Given the description of an element on the screen output the (x, y) to click on. 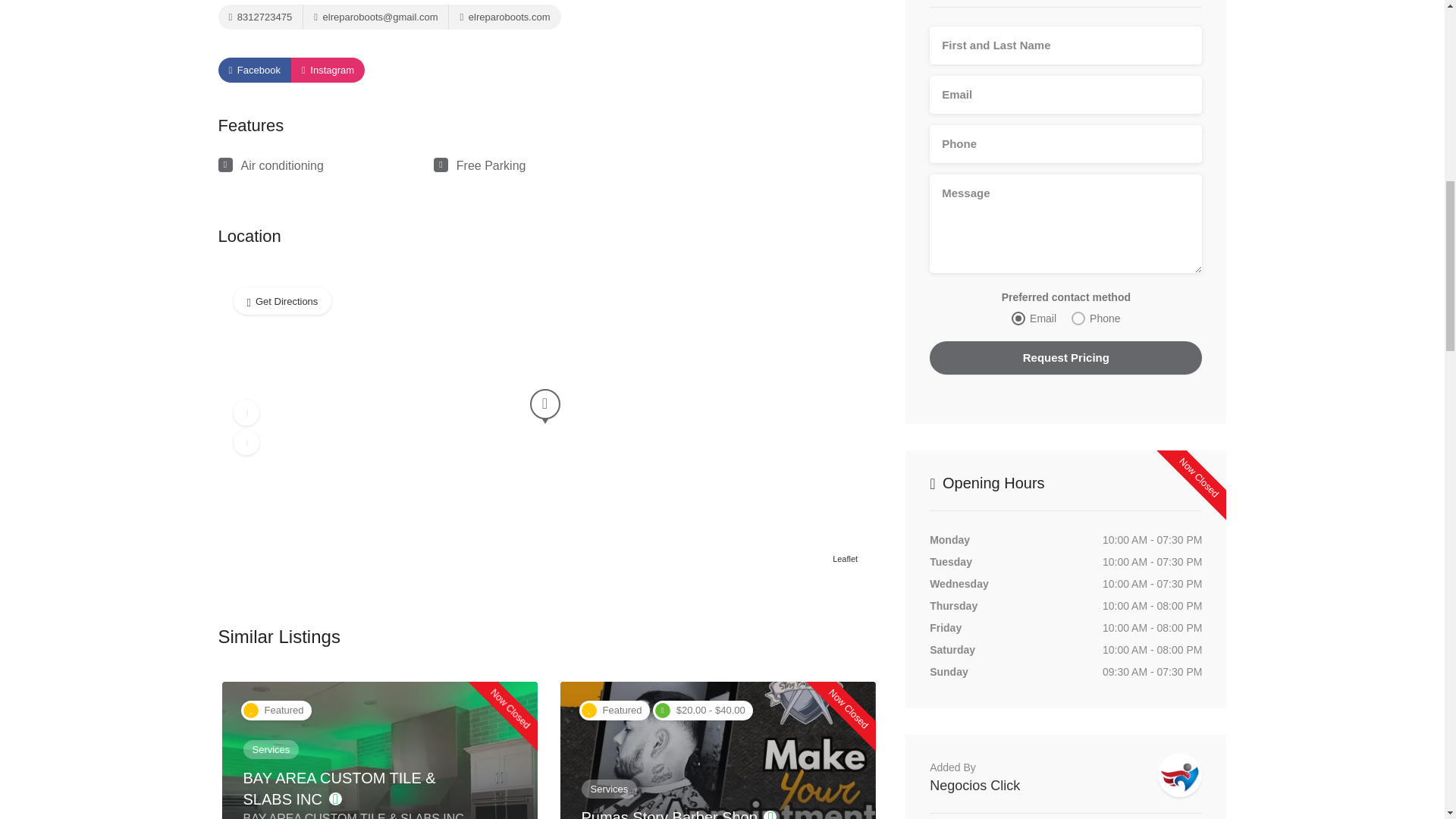
Zoom in (245, 412)
A JS library for interactive maps (844, 558)
Request Pricing (1066, 357)
8312723475 (260, 16)
Zoom out (245, 442)
